Given the description of an element on the screen output the (x, y) to click on. 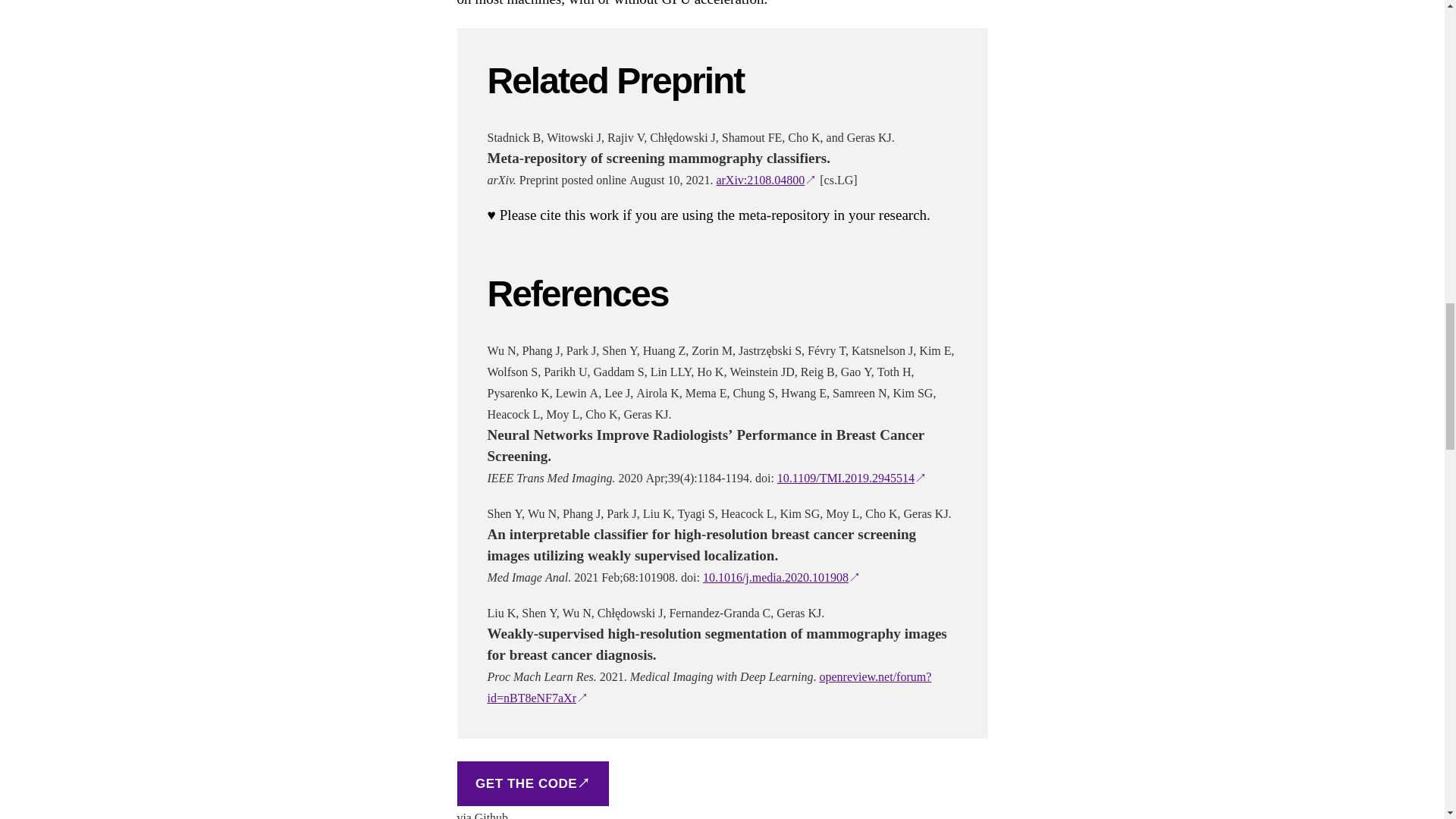
arXiv:2108.04800 (766, 180)
